Given the description of an element on the screen output the (x, y) to click on. 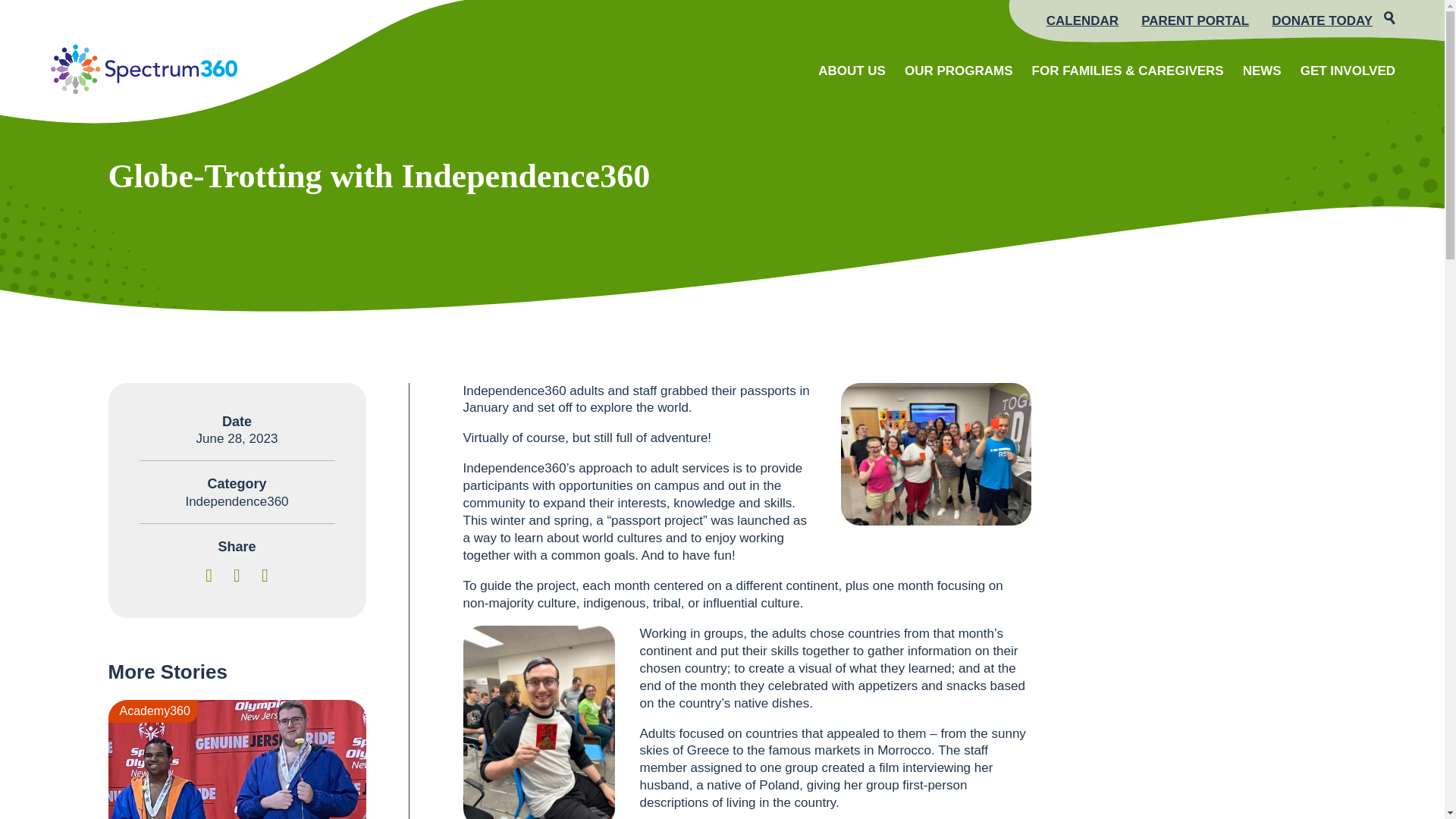
PARENT PORTAL (1195, 21)
NEWS (1262, 70)
OUR PROGRAMS (958, 70)
CALENDAR (1082, 21)
DONATE TODAY (1322, 21)
ABOUT US (851, 70)
